Given the description of an element on the screen output the (x, y) to click on. 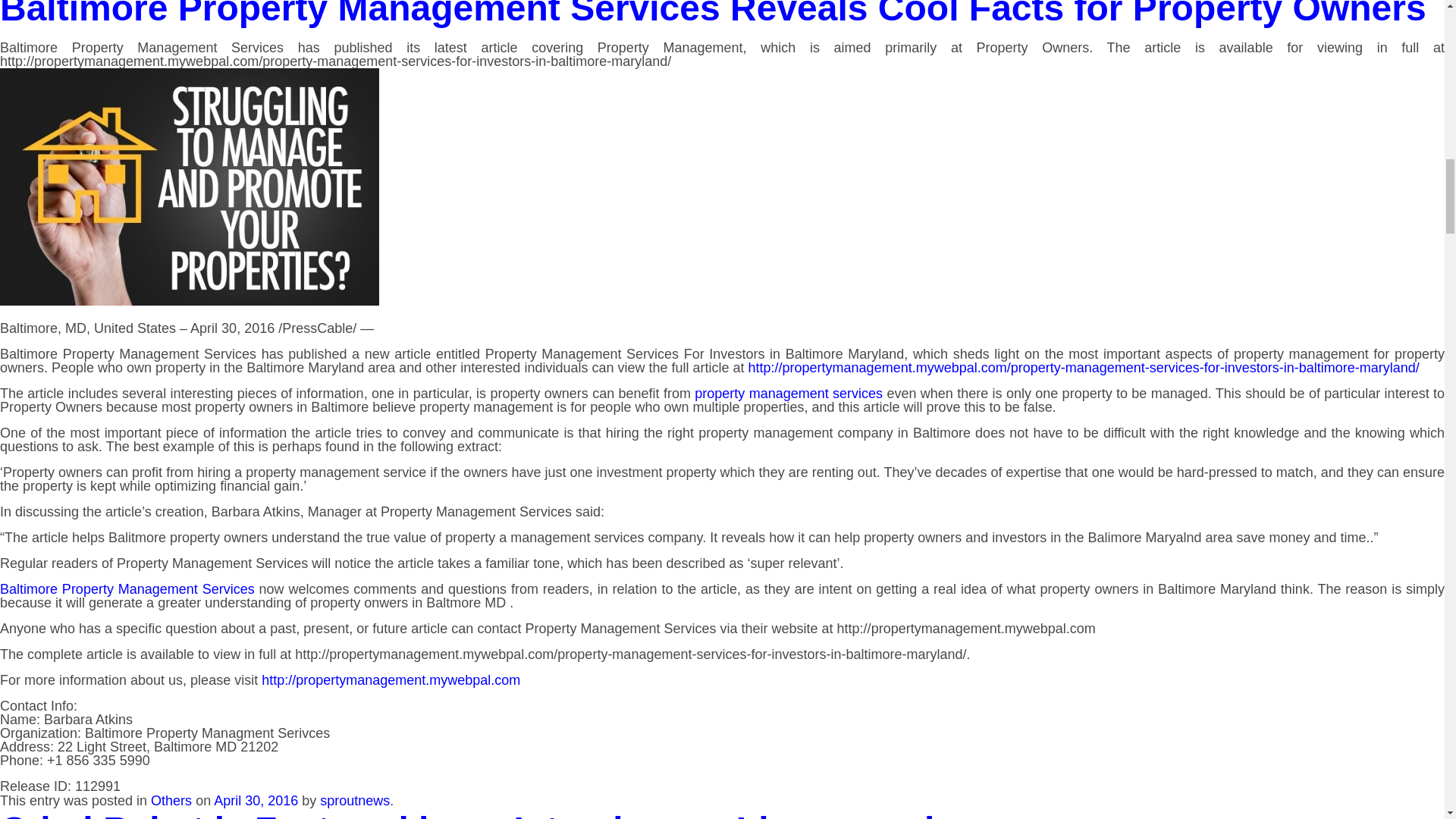
sproutnews (355, 800)
April 30, 2016 (256, 800)
Baltimore Property Management Services (127, 589)
Others (171, 800)
3:30 pm (256, 800)
property management services (788, 393)
